Given the description of an element on the screen output the (x, y) to click on. 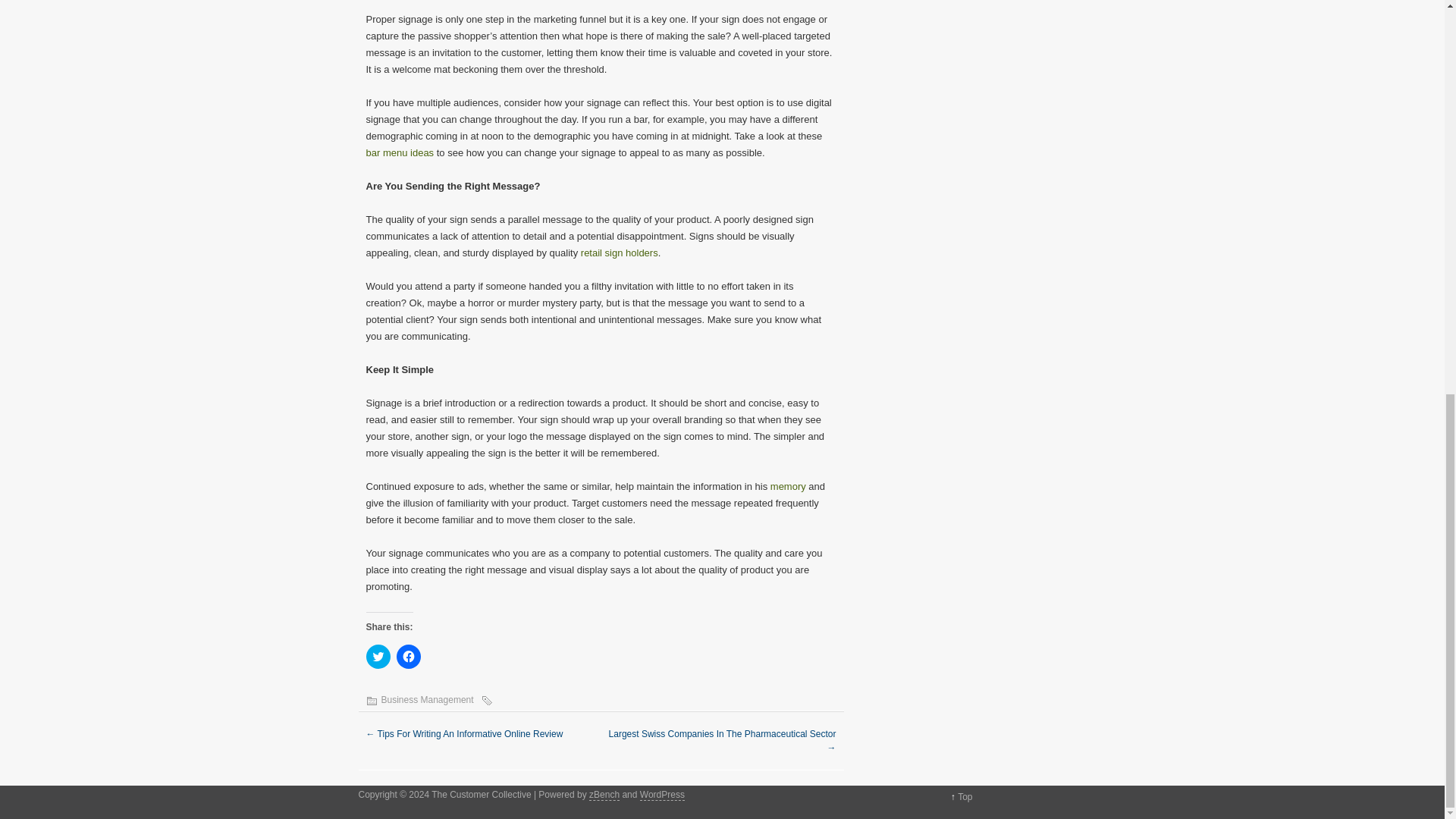
Click to share on Twitter (377, 656)
retail sign holders (619, 252)
Click to share on Facebook (408, 656)
bar menu ideas (399, 152)
Back to top (965, 796)
memory (788, 486)
Business Management (426, 699)
